Given the description of an element on the screen output the (x, y) to click on. 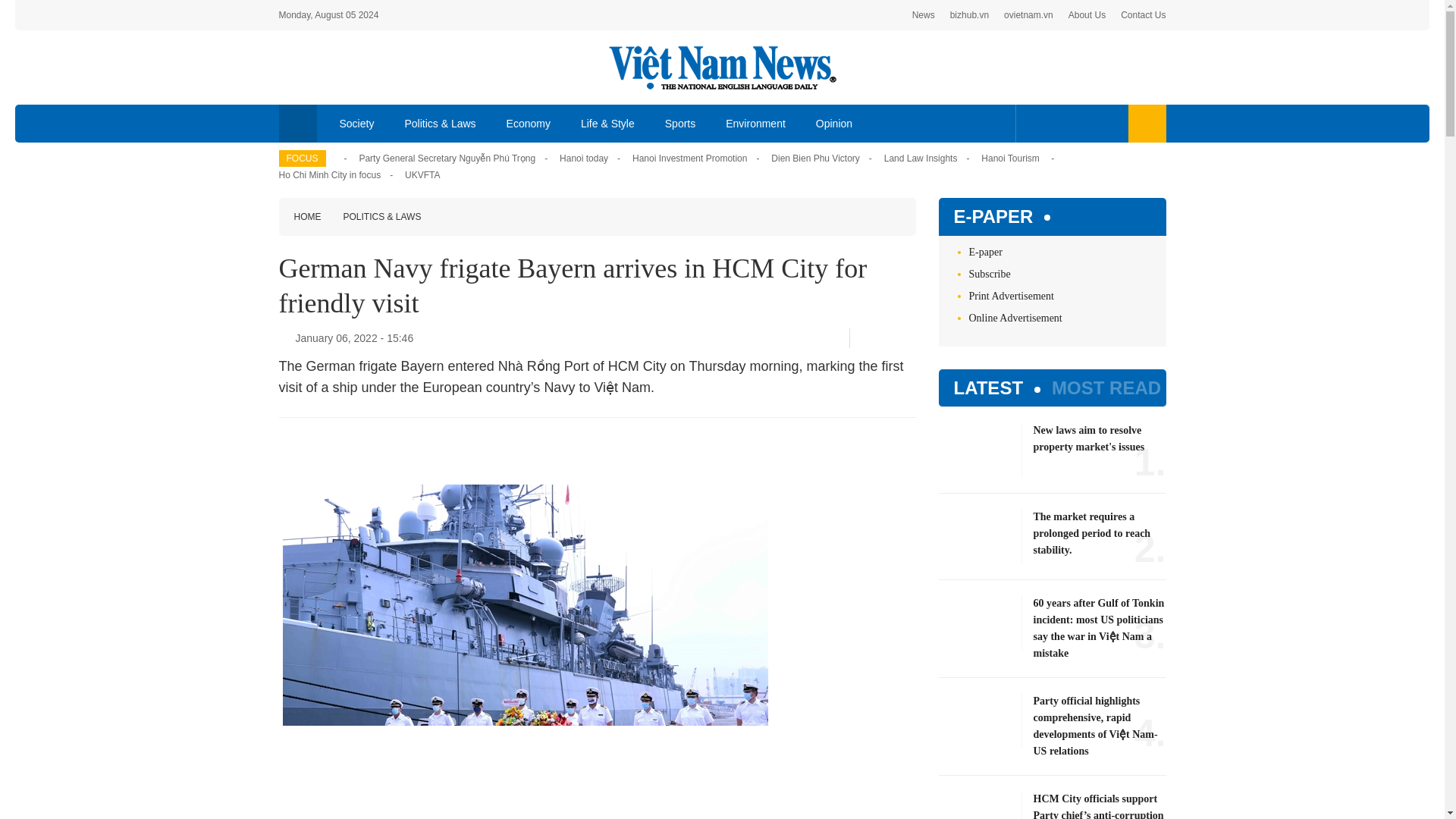
Facebook (1035, 123)
News (923, 15)
Sports (679, 123)
About Us (1086, 15)
Society (357, 123)
bizhub.vn (969, 15)
Contact Us (1143, 15)
Twitter (1056, 122)
ovietnam.vn (1028, 15)
Opinion (833, 123)
Instagram (1106, 123)
Facebook (865, 337)
Youtube (1081, 122)
Environment (755, 123)
Economy (529, 123)
